Given the description of an element on the screen output the (x, y) to click on. 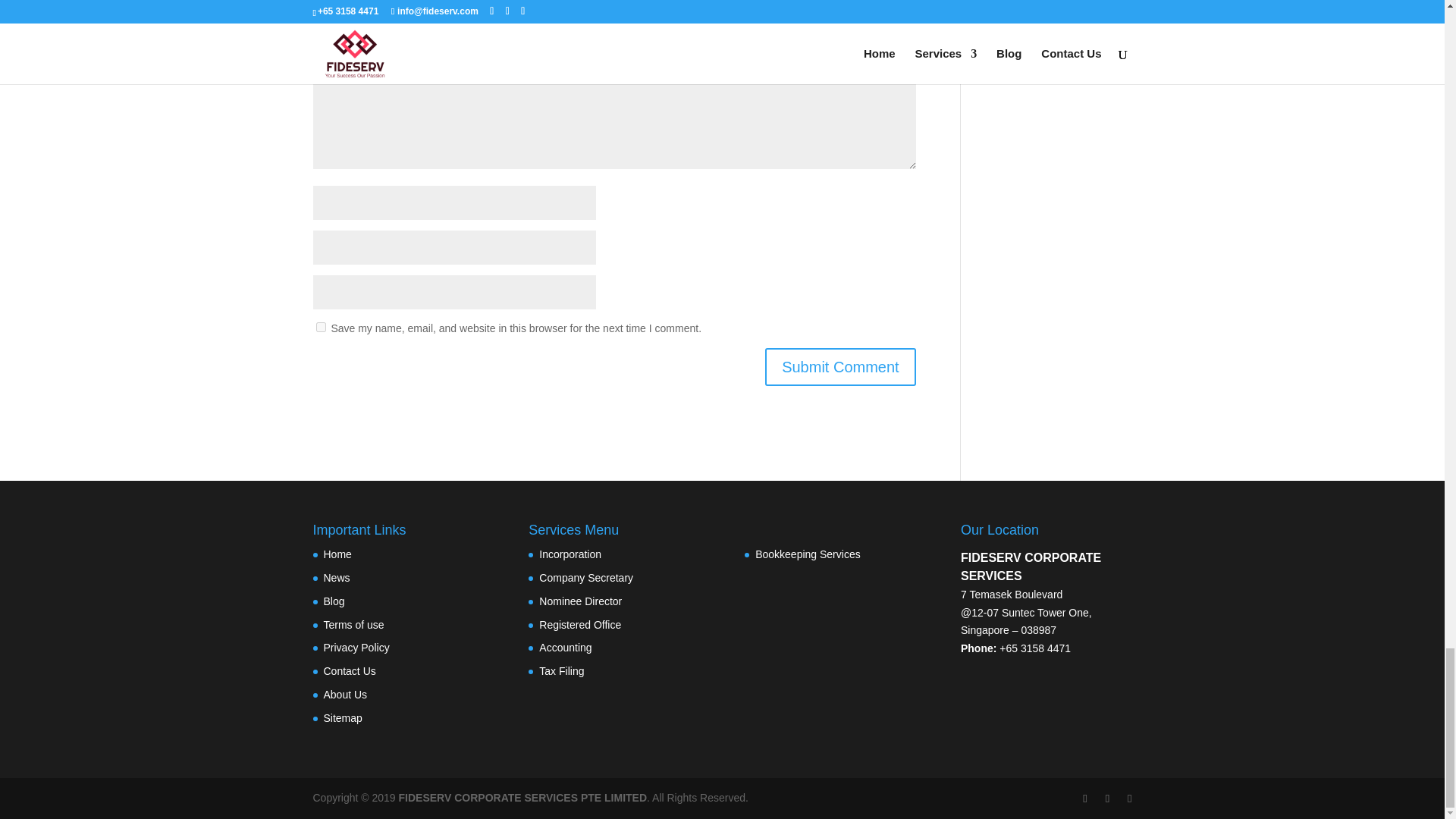
yes (319, 327)
Submit Comment (840, 366)
Submit Comment (840, 366)
